Given the description of an element on the screen output the (x, y) to click on. 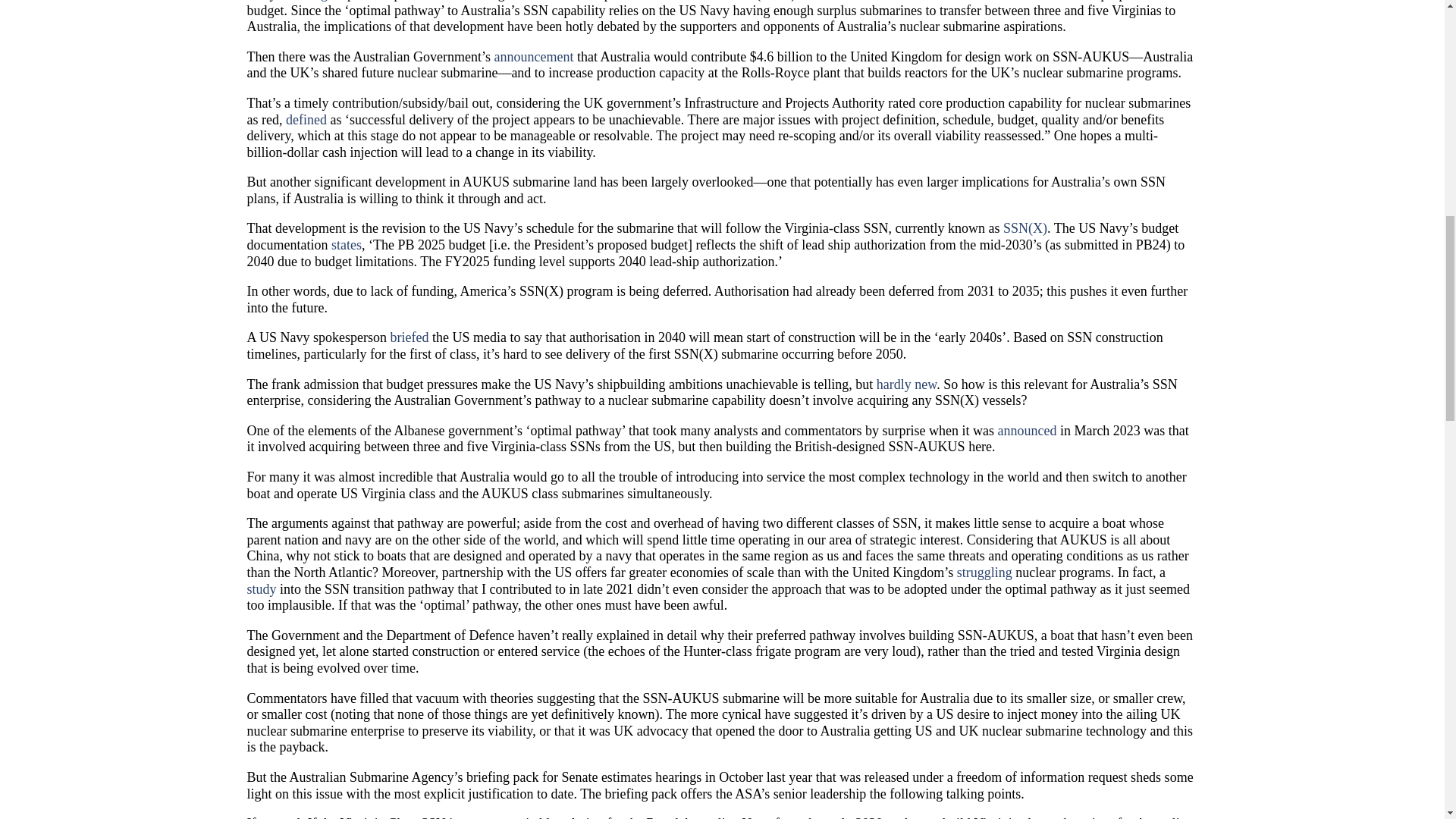
defined (305, 119)
announced (1027, 430)
study (261, 589)
reducing (303, 0)
announcement (533, 56)
struggling (983, 572)
briefed (409, 337)
states (346, 244)
hardly new (906, 384)
